Given the description of an element on the screen output the (x, y) to click on. 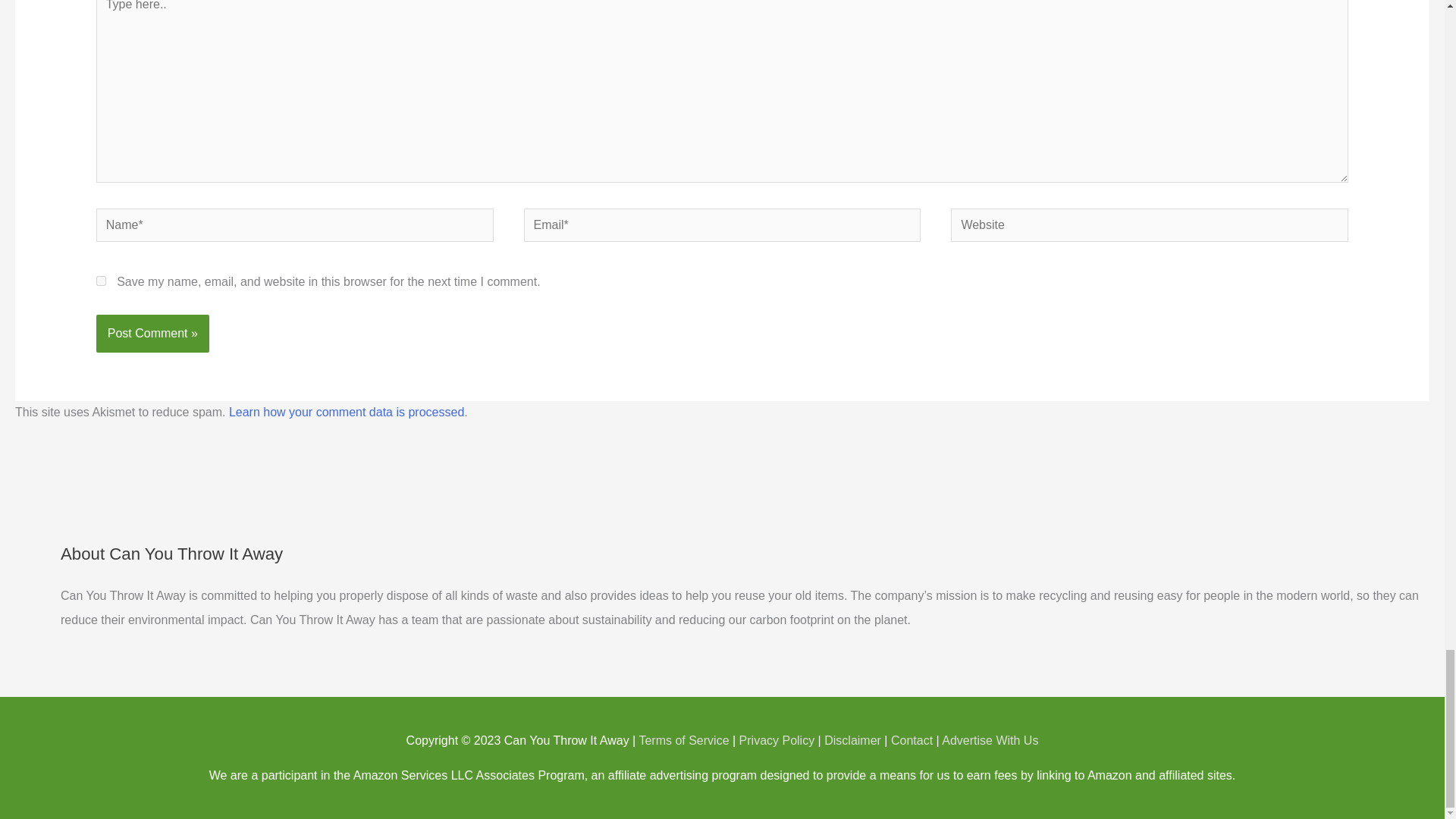
Contact (912, 739)
Privacy Policy (777, 739)
Disclaimer (852, 739)
Terms of Service (684, 739)
Learn how your comment data is processed (346, 411)
yes (101, 280)
Advertise With Us (990, 739)
